Given the description of an element on the screen output the (x, y) to click on. 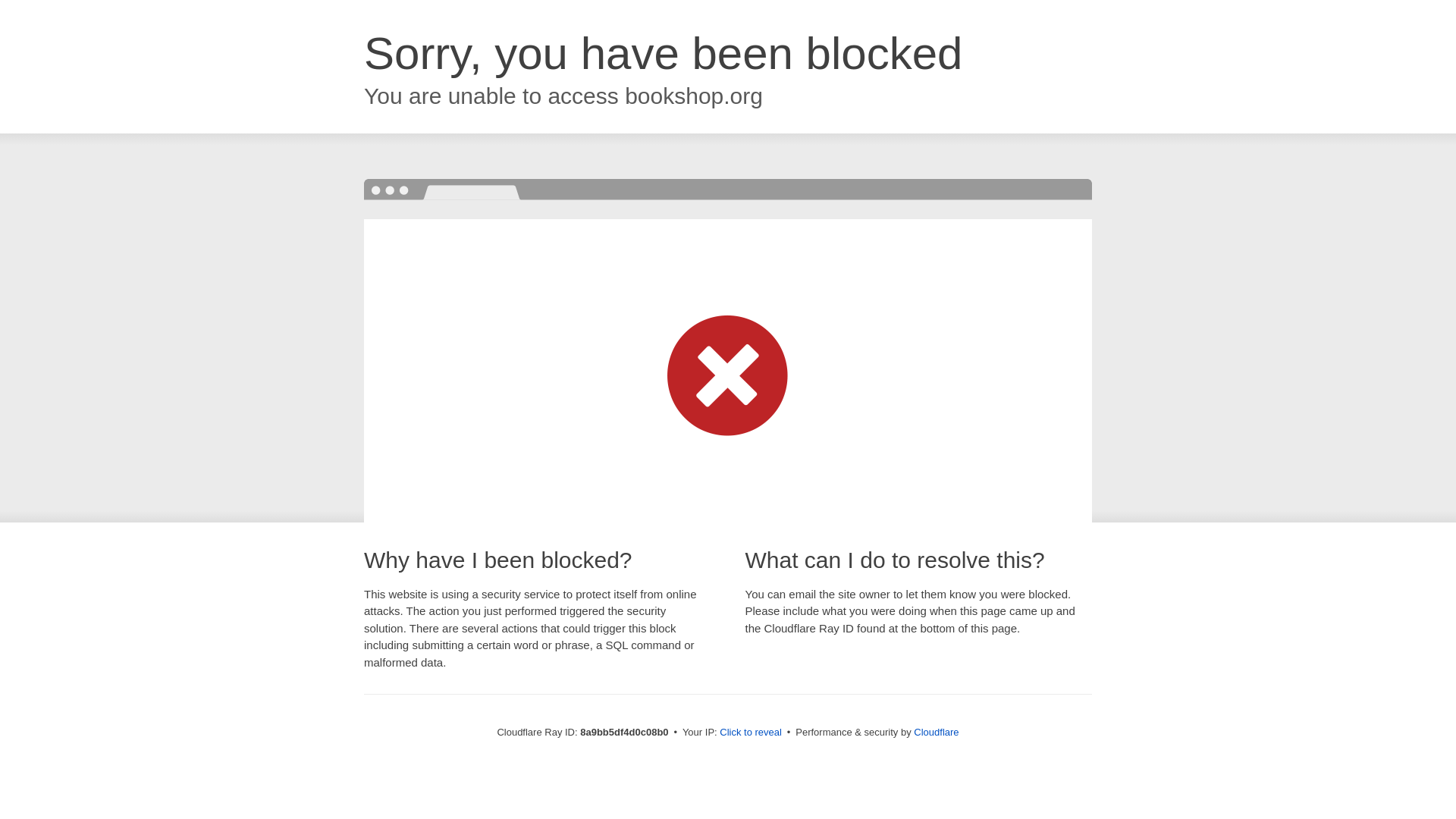
Click to reveal (750, 732)
Cloudflare (936, 731)
